Given the description of an element on the screen output the (x, y) to click on. 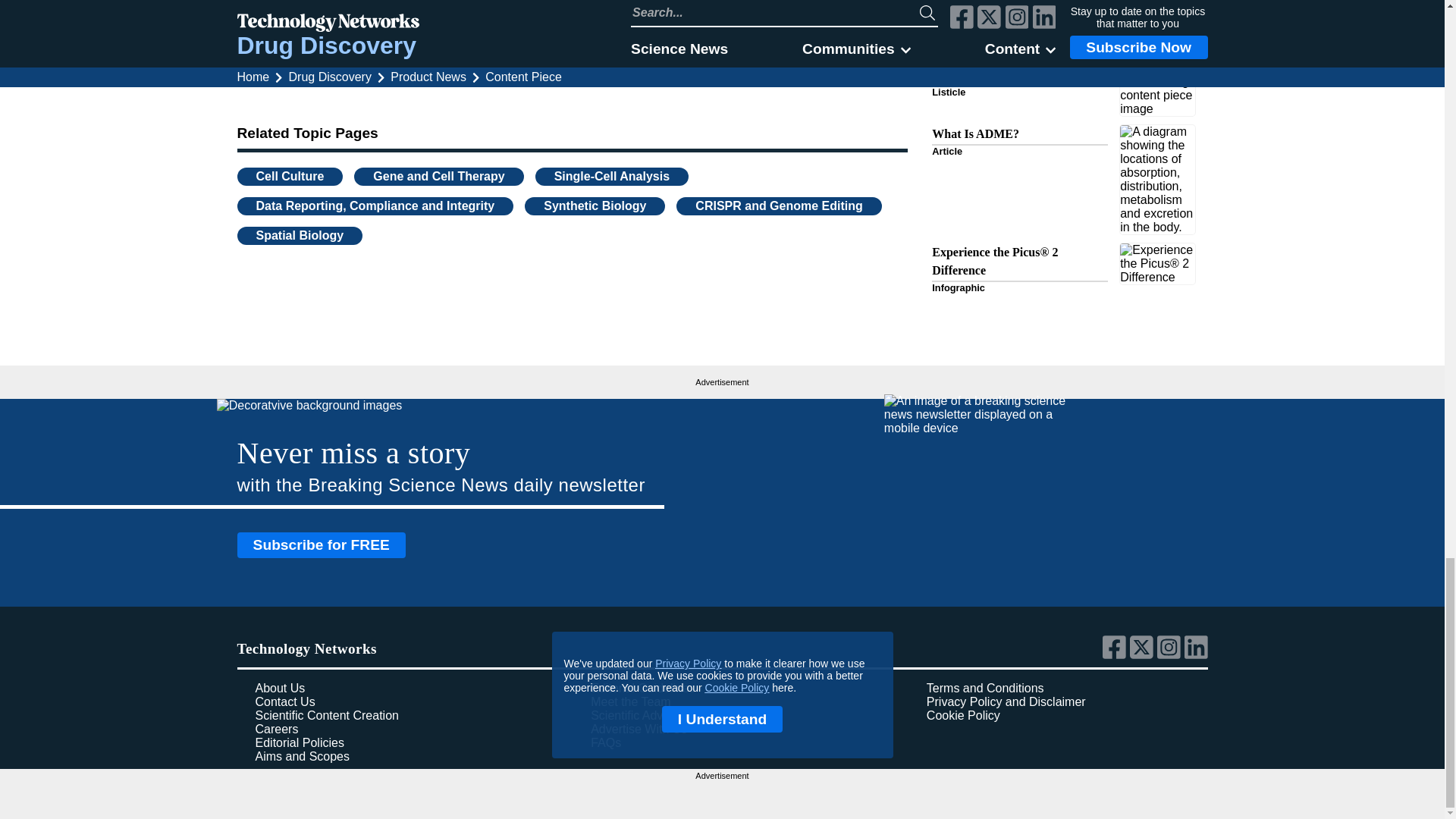
Link to Technology Networks' facebook page (1115, 655)
Link to Technology Networks' linkedin page (1196, 655)
Link to Technology Networks' twitter page (1143, 655)
Link to Technology Networks' instagram page (1171, 655)
